Given the description of an element on the screen output the (x, y) to click on. 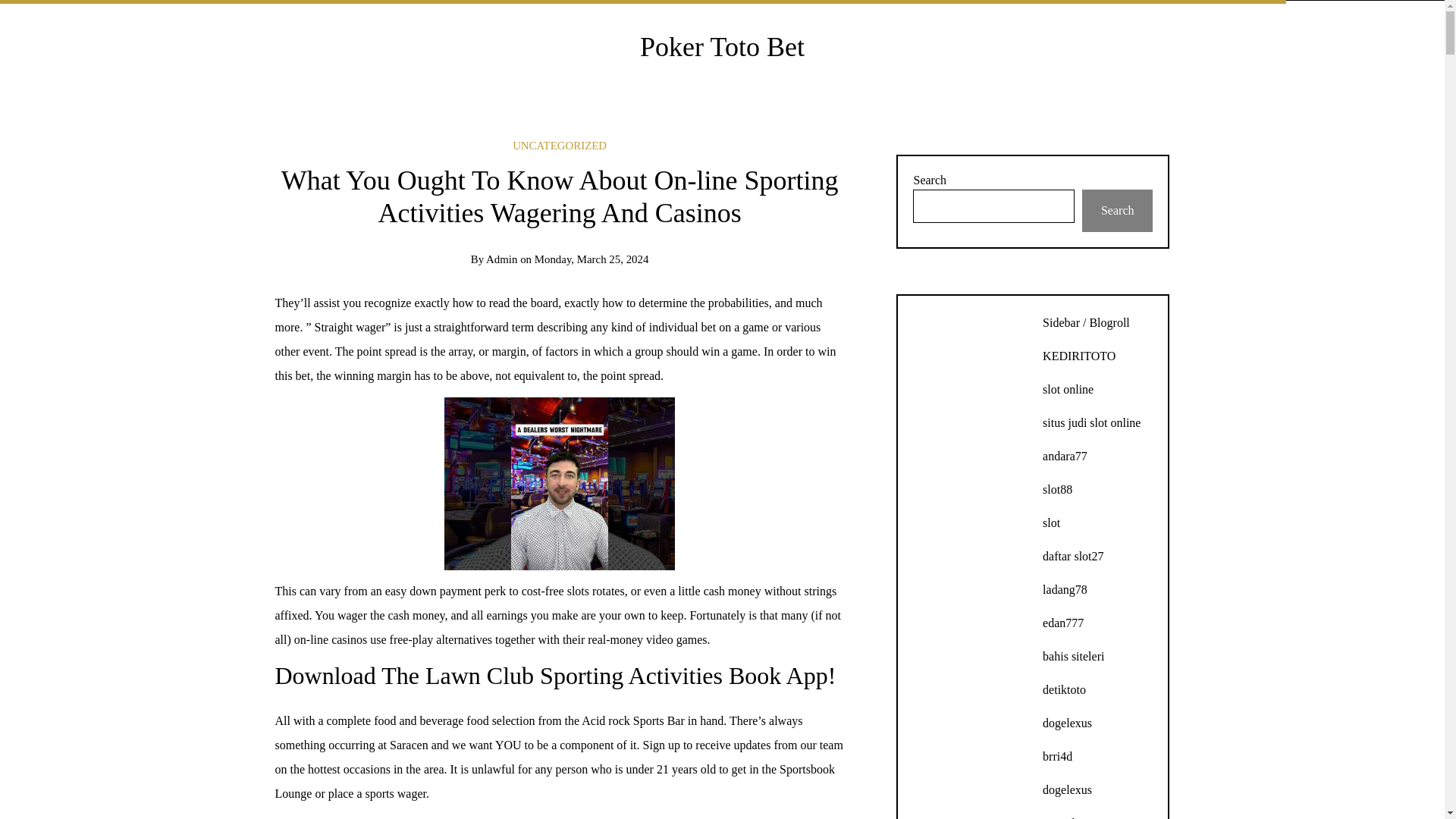
detiktoto (1064, 689)
KEDIRITOTO (1078, 355)
slot online (1067, 389)
Search (1117, 210)
slot (1050, 522)
Monday, March 25, 2024 (591, 259)
bahis siteleri (1072, 656)
Posts by admin (501, 259)
Admin (501, 259)
situs judi slot online (1091, 422)
